Given the description of an element on the screen output the (x, y) to click on. 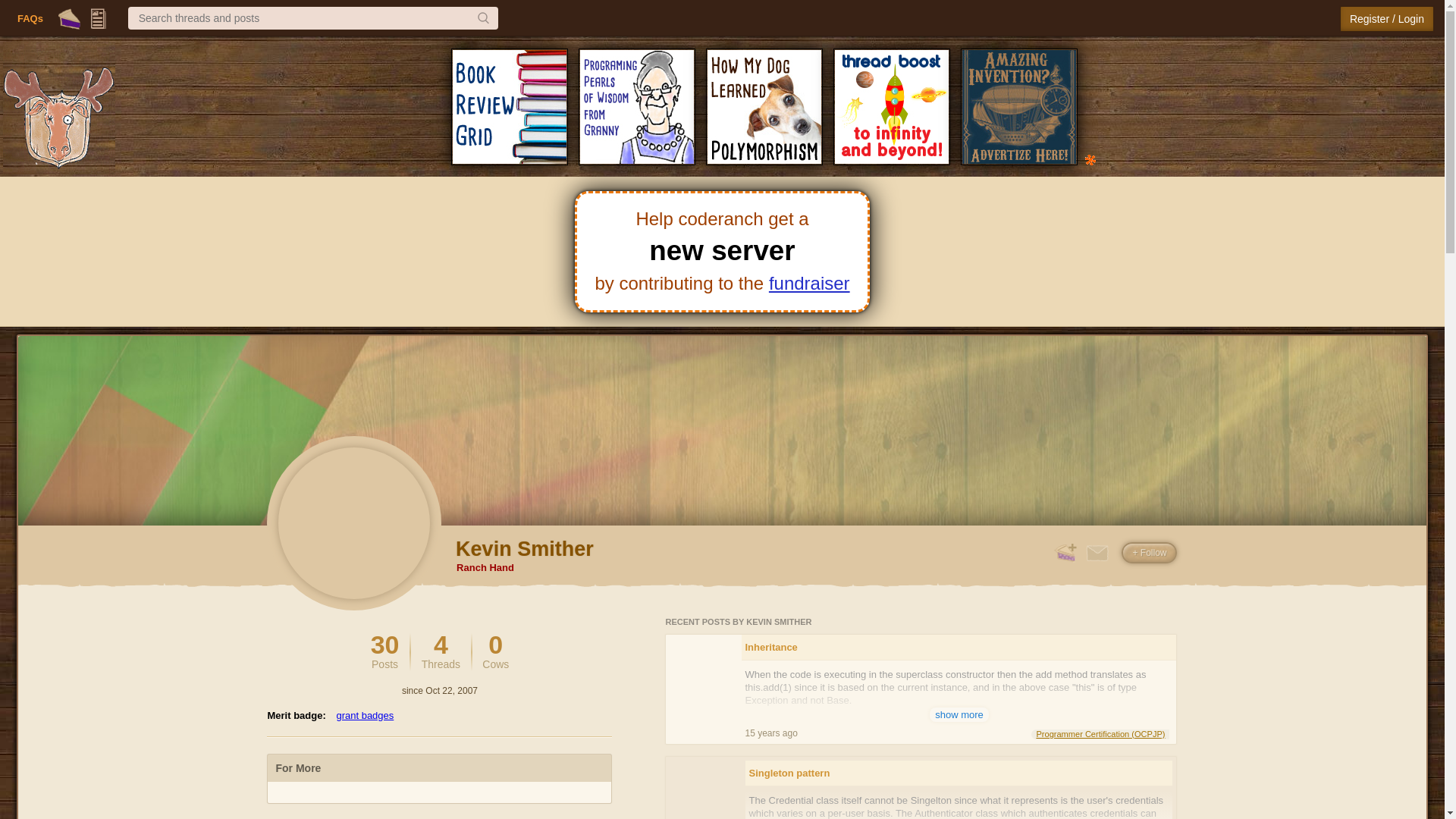
fundraiser (809, 282)
show more (441, 650)
Singleton pattern (959, 714)
grant badges (958, 772)
Pie (364, 715)
You must log in or sign up to be able to follow this user (69, 18)
Inheritance (1148, 552)
